Given the description of an element on the screen output the (x, y) to click on. 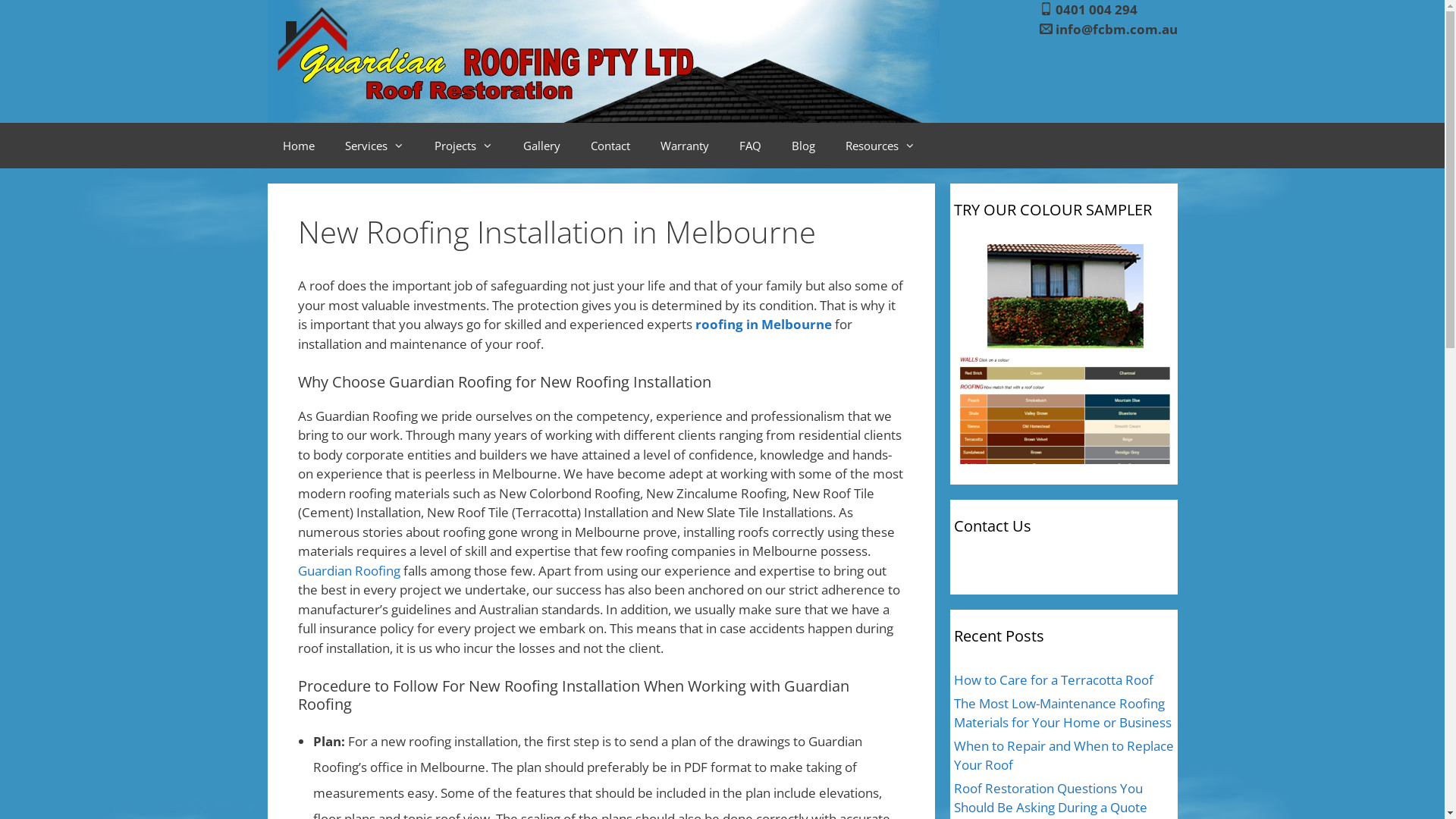
Gallery Element type: text (541, 145)
How to Care for a Terracotta Roof Element type: text (1053, 679)
Warranty Element type: text (683, 145)
0401 004 294 Element type: text (1096, 9)
Contact Element type: text (609, 145)
Home Element type: text (297, 145)
roofing in Melbourne Element type: text (762, 323)
Guardian Roofing Element type: text (348, 569)
FAQ Element type: text (749, 145)
Services Element type: text (373, 145)
Resources Element type: text (879, 145)
Blog Element type: text (803, 145)
Projects Element type: text (462, 145)
When to Repair and When to Replace Your Roof Element type: text (1063, 755)
info@fcbm.com.au Element type: text (1116, 28)
